Given the description of an element on the screen output the (x, y) to click on. 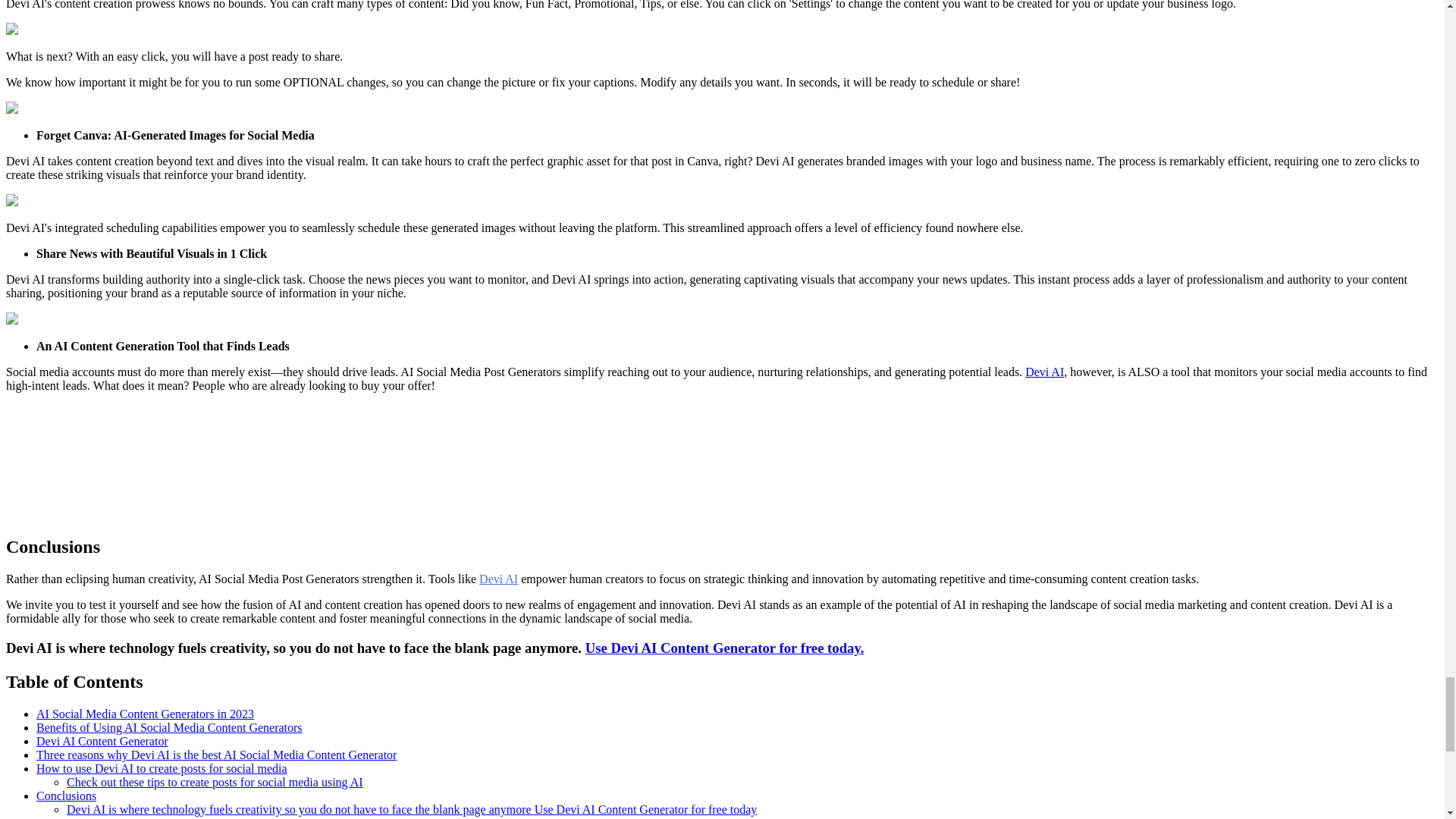
Use Devi AI Content Generator for free today. (724, 647)
Devi AI Content Generator (102, 740)
AI Social Media Content Generators in 2023 (144, 713)
How to use Devi AI to create posts for social media (161, 768)
Devi AI (498, 578)
Devi AI (1044, 371)
